Given the description of an element on the screen output the (x, y) to click on. 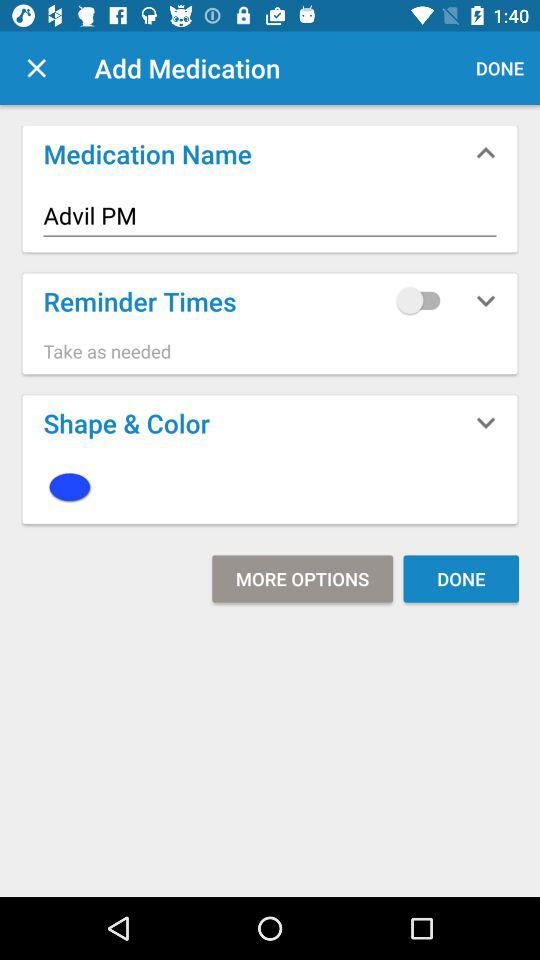
flip until the take as needed icon (269, 351)
